Given the description of an element on the screen output the (x, y) to click on. 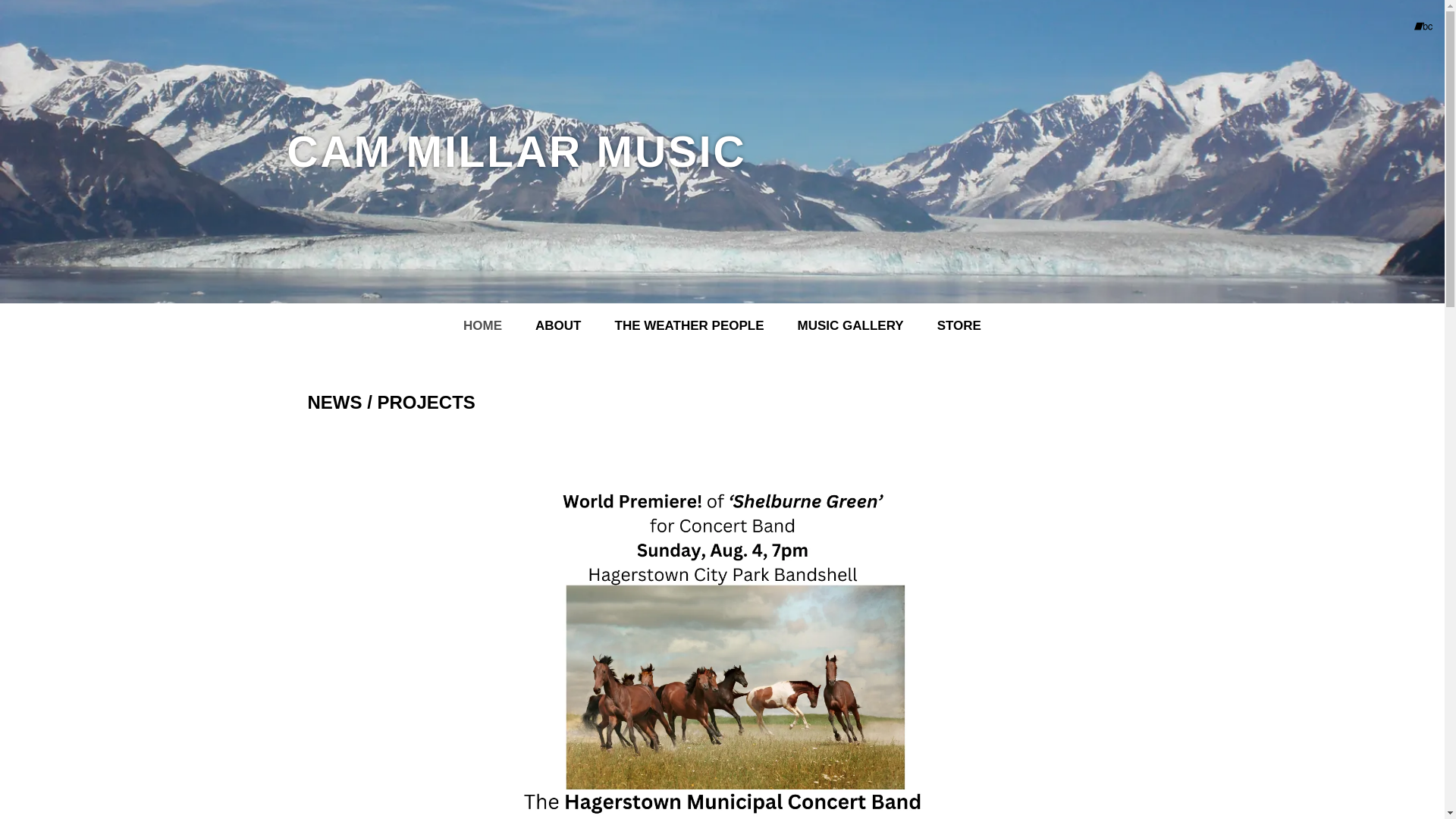
CAM MILLAR MUSIC (515, 159)
STORE (959, 325)
MUSIC GALLERY (850, 325)
HOME (482, 325)
ABOUT (558, 325)
THE WEATHER PEOPLE (689, 325)
